Given the description of an element on the screen output the (x, y) to click on. 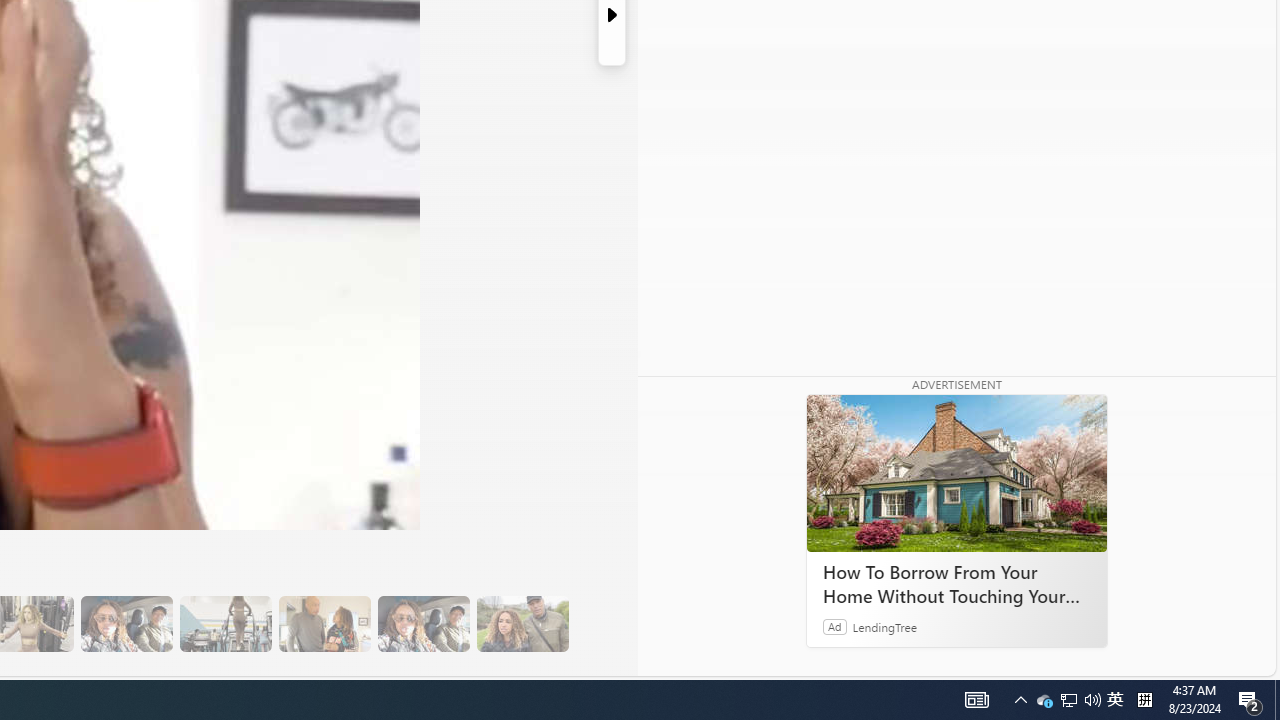
20 Overall, It Will Improve Your Health (522, 624)
